Given the description of an element on the screen output the (x, y) to click on. 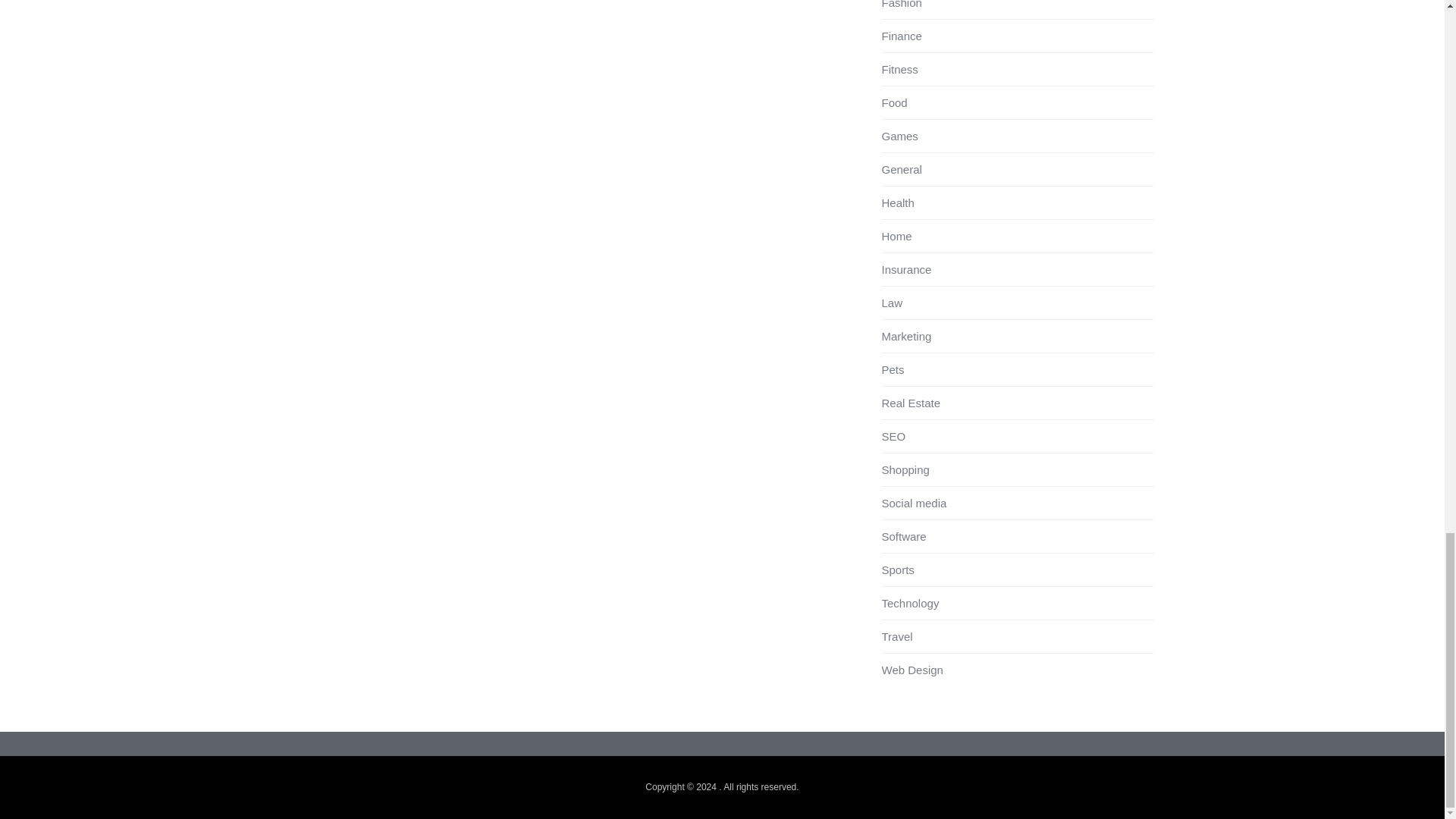
Home (895, 236)
Law (891, 302)
Games (898, 135)
Insurance (905, 269)
Marketing (905, 336)
Fashion (900, 4)
Pets (892, 369)
Fitness (898, 69)
Health (897, 202)
Food (893, 102)
General (900, 169)
Finance (900, 35)
Real Estate (910, 402)
